Given the description of an element on the screen output the (x, y) to click on. 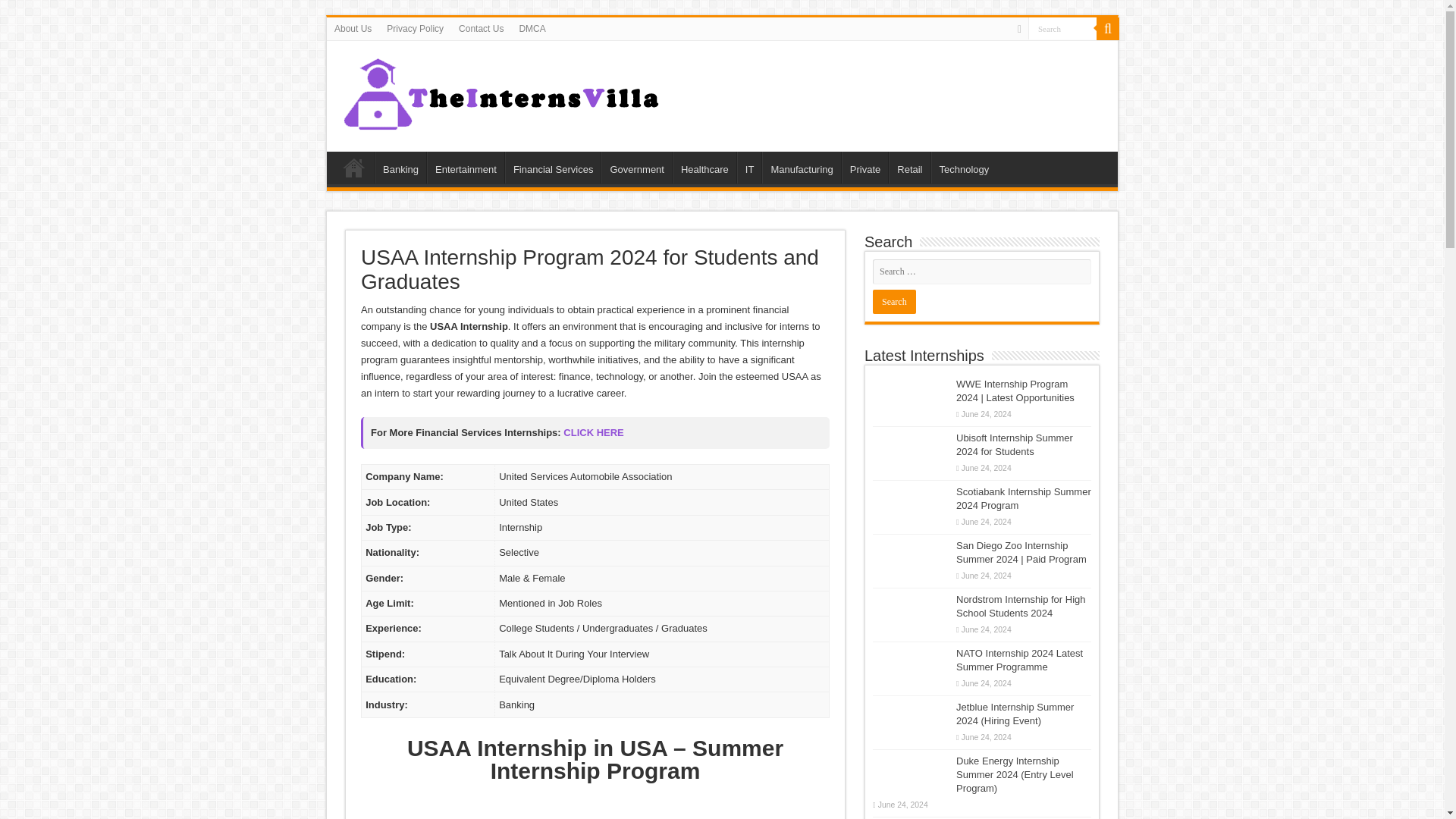
Healthcare (704, 167)
About Us (352, 28)
Government (636, 167)
Private (864, 167)
Retail (909, 167)
Nordstrom Internship for High School Students 2024 (1021, 606)
Private Internships (864, 167)
Banking (400, 167)
Home (354, 167)
Search (1061, 28)
Manufacturing (800, 167)
Government Internships (636, 167)
Manufacturing Internships (800, 167)
Technology (964, 167)
Financial Services Internships (553, 167)
